Given the description of an element on the screen output the (x, y) to click on. 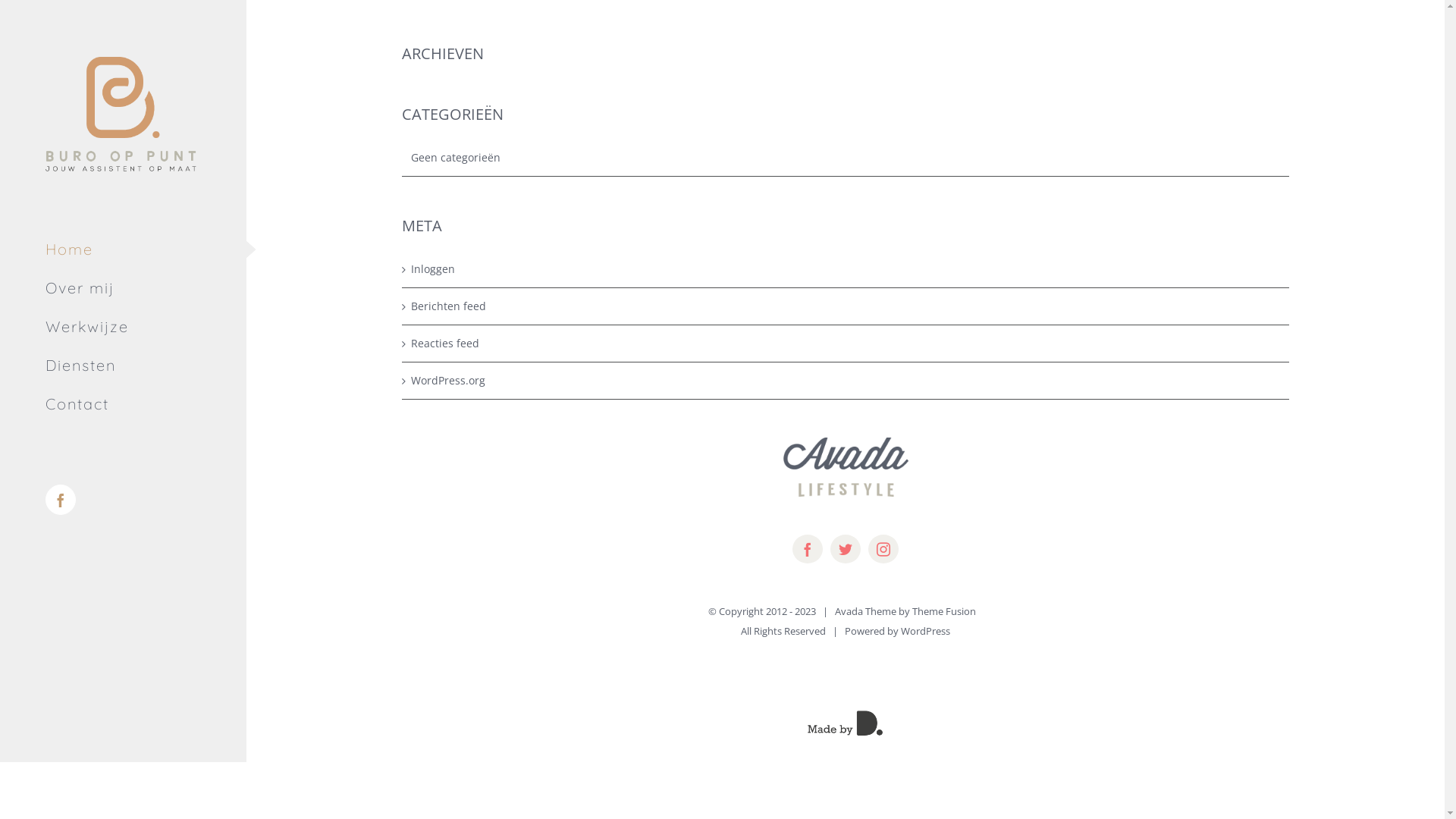
Werkwijze Element type: text (123, 326)
Facebook Element type: text (60, 499)
WordPress.org Element type: text (846, 380)
Contact Element type: text (123, 404)
Reacties feed Element type: text (846, 343)
Berichten feed Element type: text (846, 305)
Theme Fusion Element type: text (943, 611)
WordPress Element type: text (925, 630)
Home Element type: text (123, 249)
Inloggen Element type: text (846, 268)
Diensten Element type: text (123, 365)
Over mij Element type: text (123, 288)
